Given the description of an element on the screen output the (x, y) to click on. 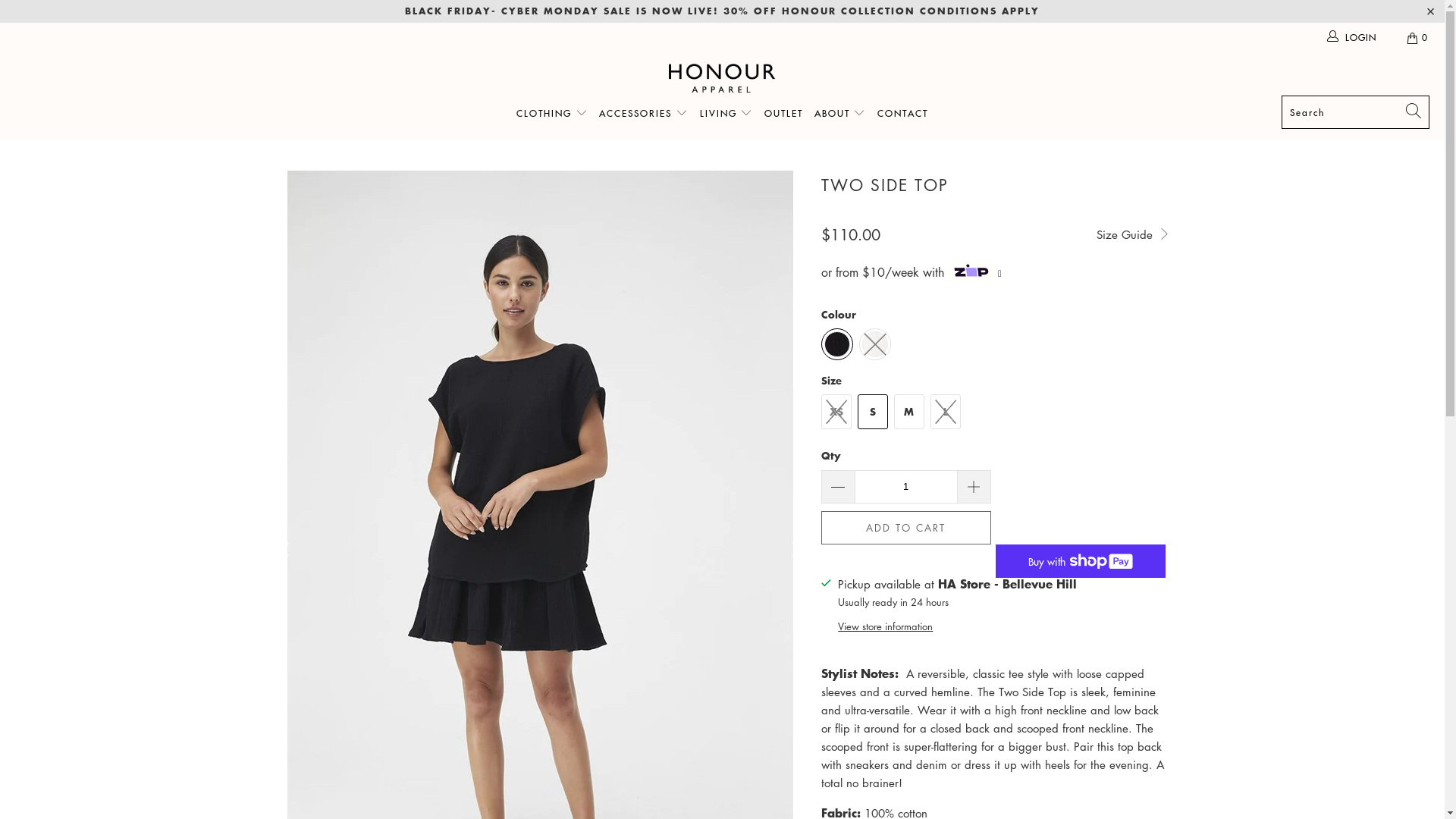
CLOTHING Element type: text (551, 113)
ADD TO CART Element type: text (905, 527)
ACCESSORIES Element type: text (643, 113)
More payment options Element type: text (1080, 556)
LIVING Element type: text (725, 113)
0 Element type: text (1417, 37)
Honour Apparel  Element type: hover (722, 77)
ABOUT Element type: text (840, 113)
CONTACT Element type: text (902, 113)
LOGIN Element type: text (1352, 37)
OUTLET Element type: text (783, 113)
Size Guide Element type: text (1132, 234)
View store information Element type: text (884, 625)
